Given the description of an element on the screen output the (x, y) to click on. 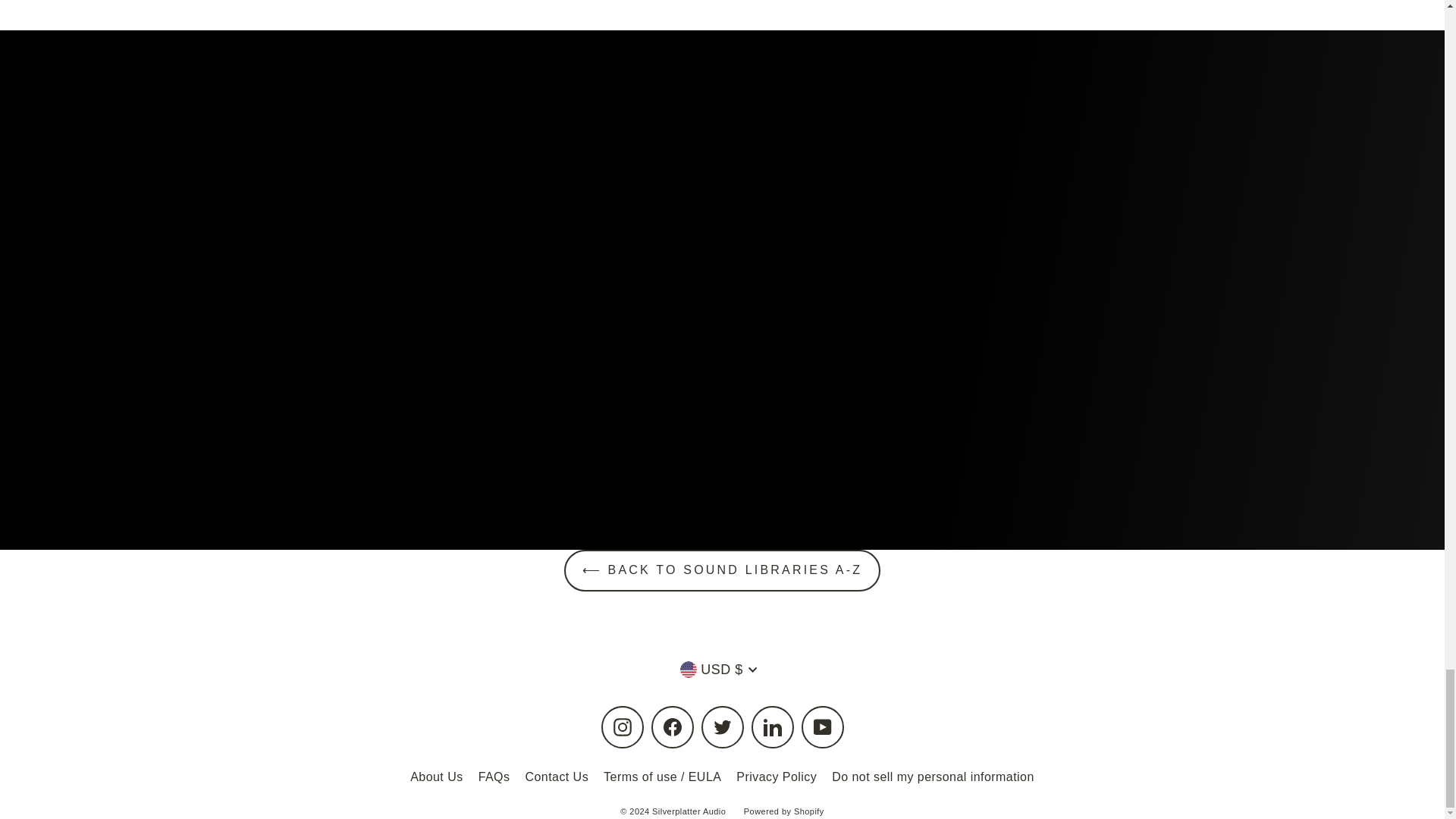
Silverplatter Audio on LinkedIn (772, 726)
Silverplatter Audio on Instagram (621, 726)
Silverplatter Audio on Twitter (721, 726)
Silverplatter Audio on Facebook (671, 726)
Silverplatter Audio on YouTube (821, 726)
